Given the description of an element on the screen output the (x, y) to click on. 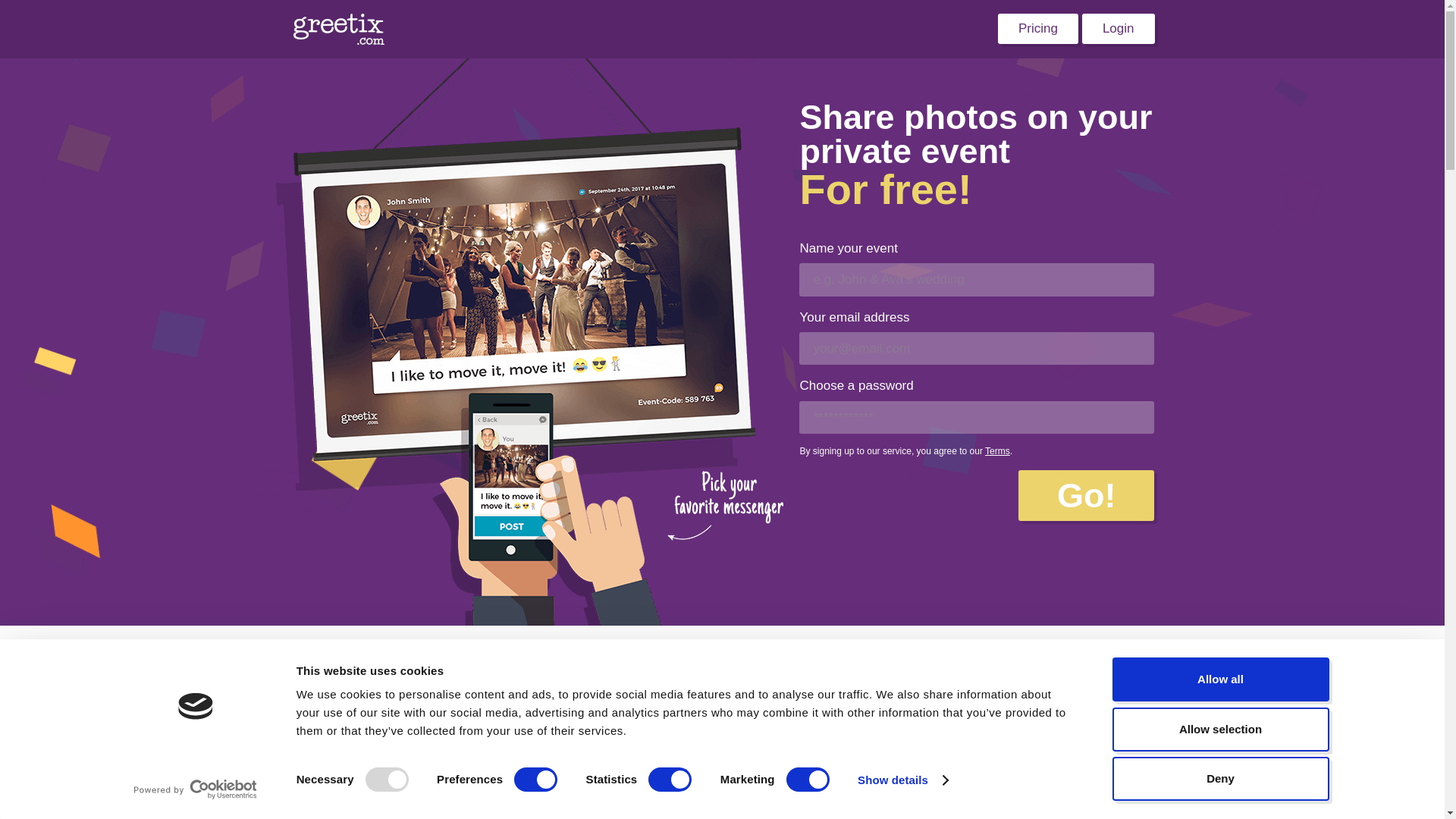
Go! (1085, 495)
Show details (902, 780)
Deny (1219, 778)
